Given the description of an element on the screen output the (x, y) to click on. 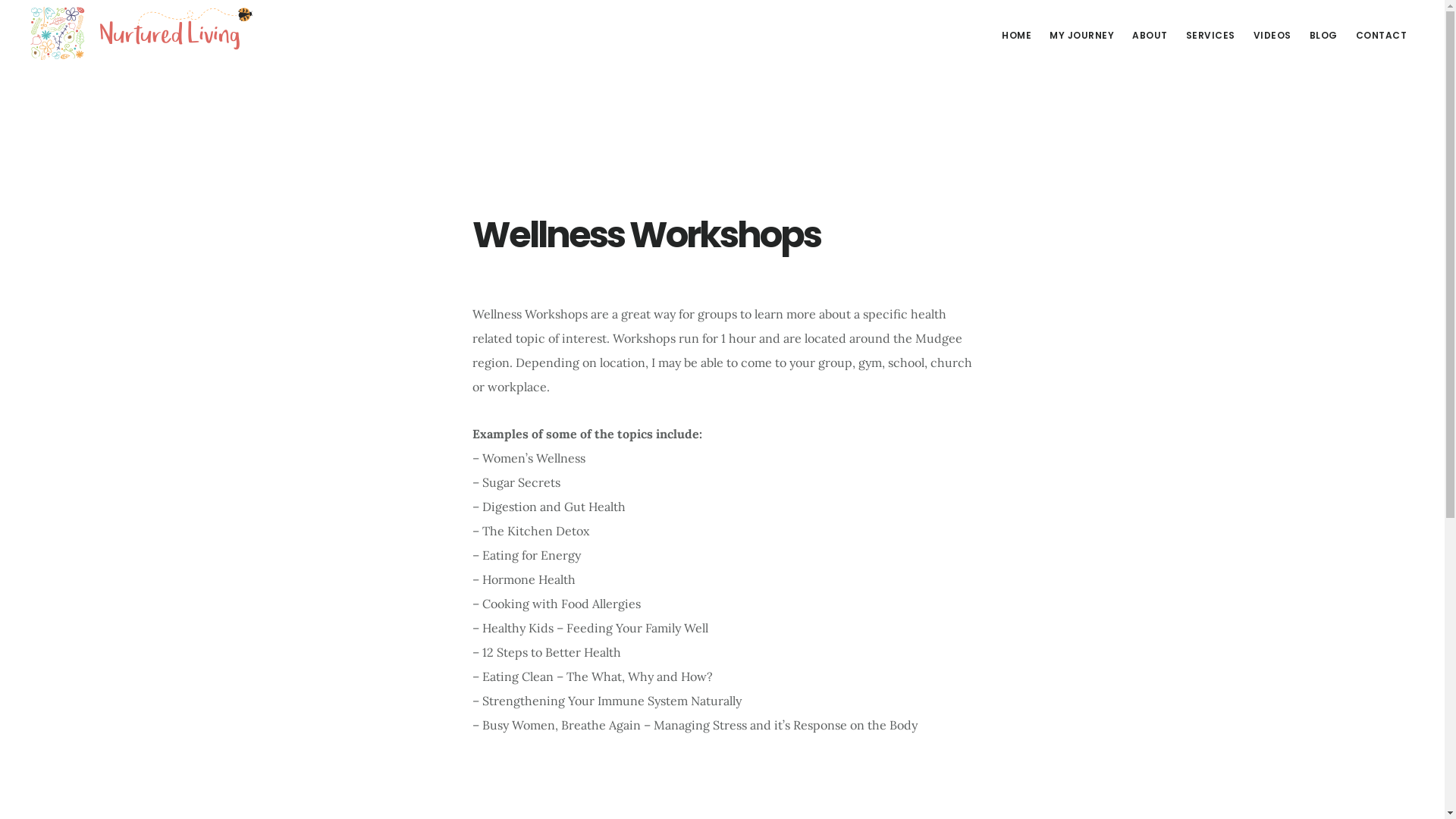
CONTACT Element type: text (1381, 35)
Skip to main content Element type: text (0, 0)
BLOG Element type: text (1322, 35)
HOME Element type: text (1016, 35)
NURTURED LIVING Element type: text (143, 32)
SERVICES Element type: text (1210, 35)
MY JOURNEY Element type: text (1081, 35)
VIDEOS Element type: text (1271, 35)
ABOUT Element type: text (1149, 35)
